Given the description of an element on the screen output the (x, y) to click on. 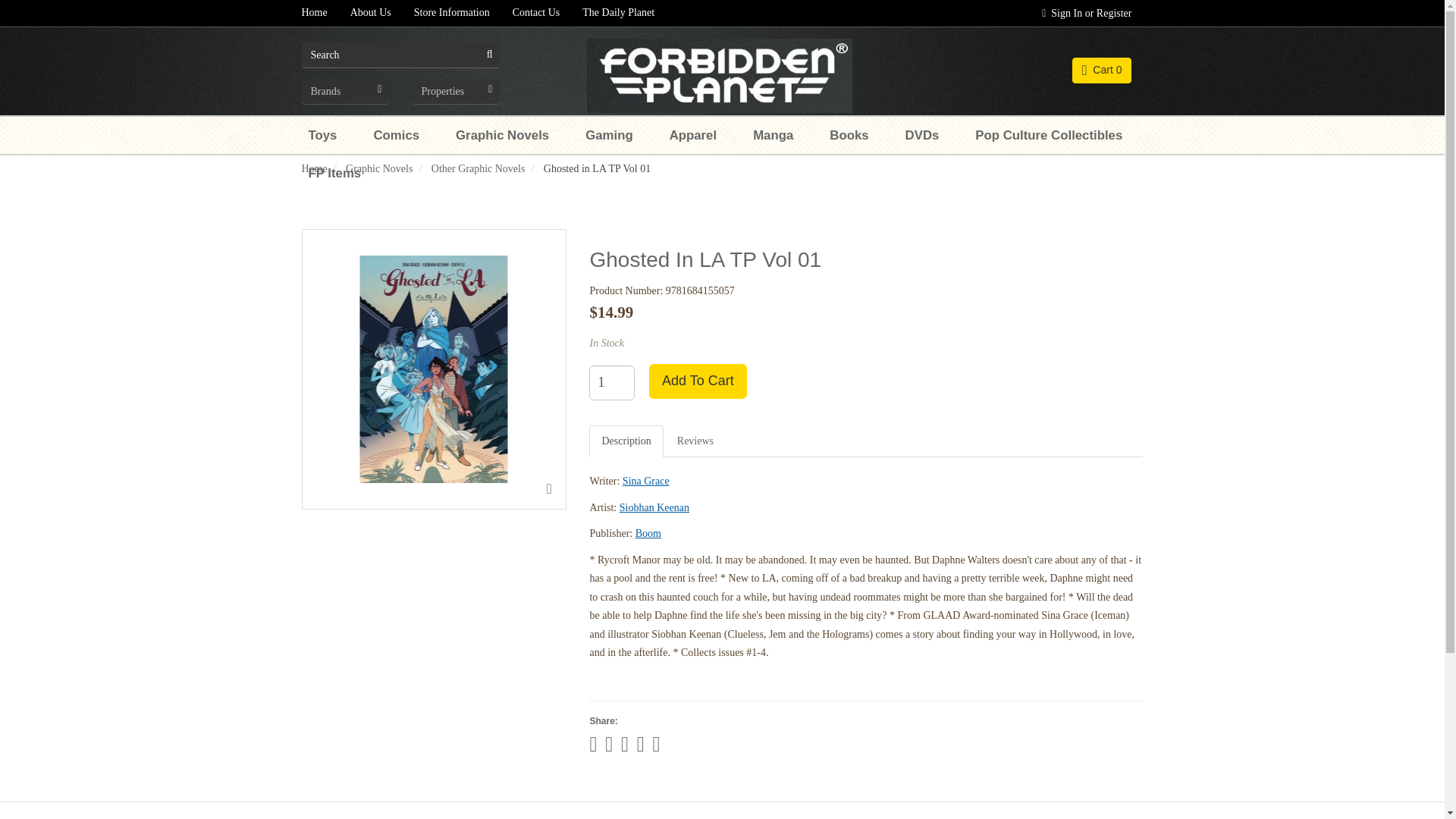
About Us (371, 13)
Store Information (451, 13)
  Cart 0 (1101, 70)
  Sign In or Register (1086, 13)
Home (313, 13)
Contact Us (536, 13)
The Daily Planet (617, 13)
1 (611, 382)
